Given the description of an element on the screen output the (x, y) to click on. 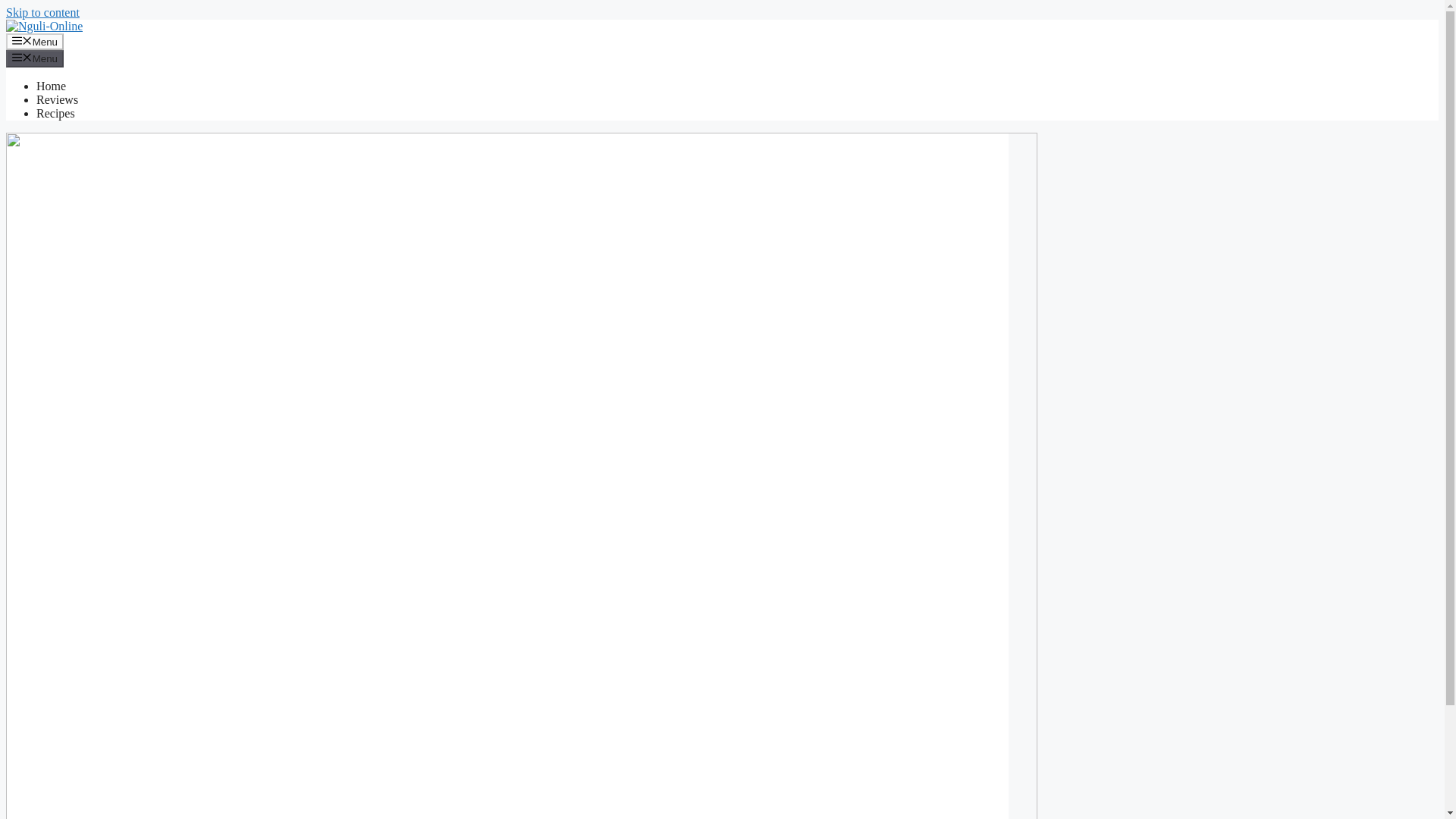
Menu (34, 57)
Skip to content (42, 11)
Recipes (55, 113)
Menu (34, 41)
Home (50, 85)
Reviews (57, 99)
Skip to content (42, 11)
